Given the description of an element on the screen output the (x, y) to click on. 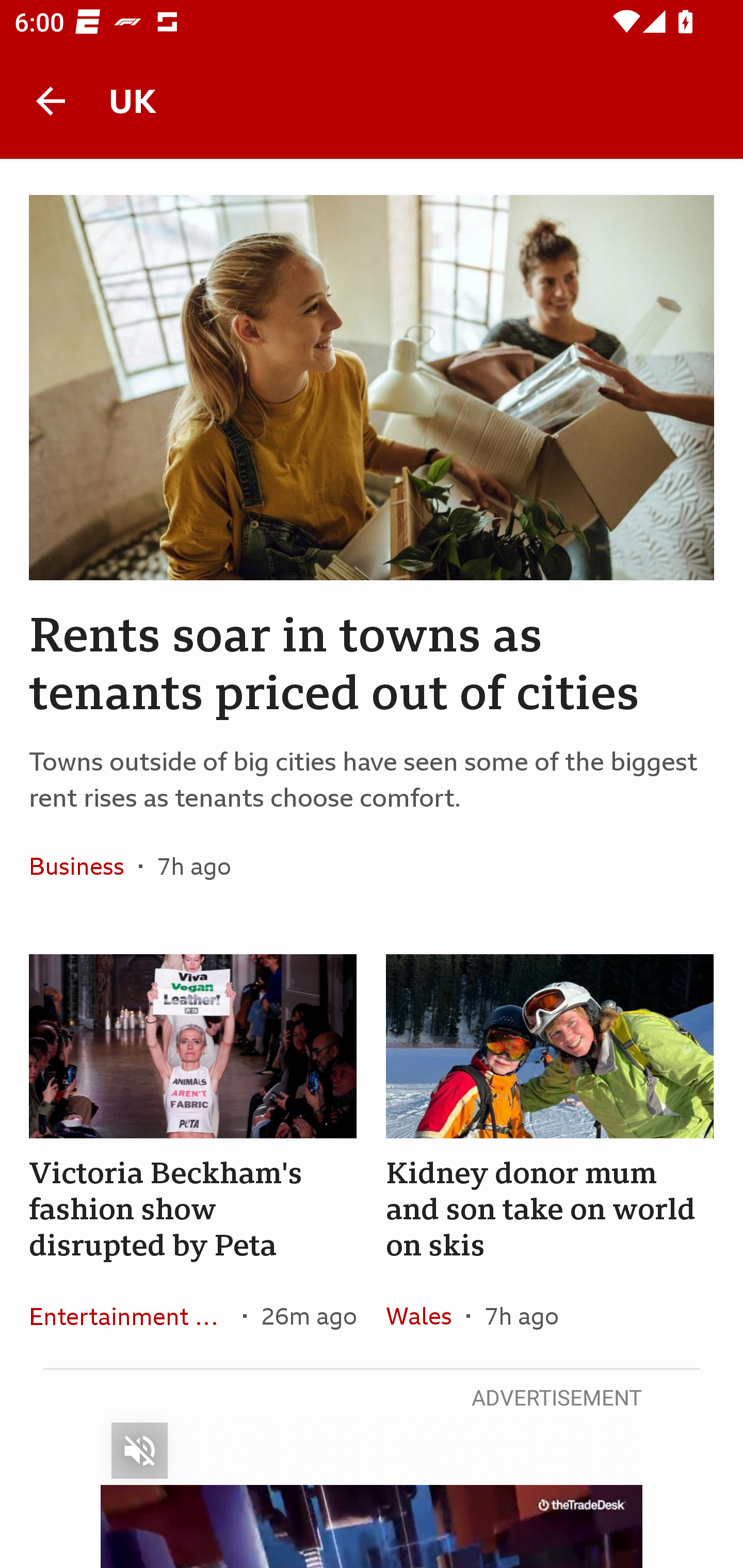
Back (50, 101)
Business In the section Business (83, 865)
Wales In the section Wales (425, 1315)
